Given the description of an element on the screen output the (x, y) to click on. 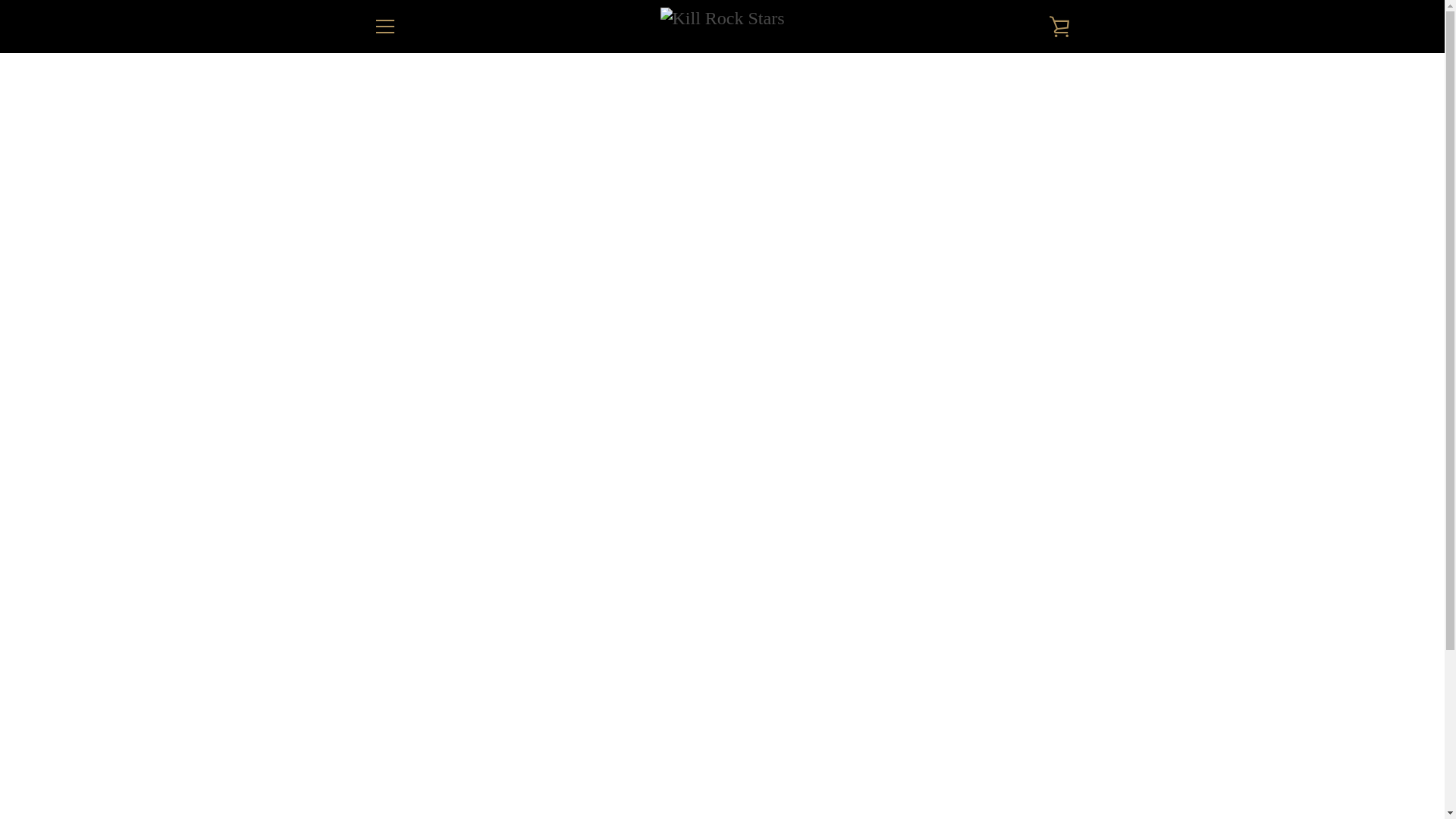
VIEW CART (1059, 26)
MENU (384, 26)
